Given the description of an element on the screen output the (x, y) to click on. 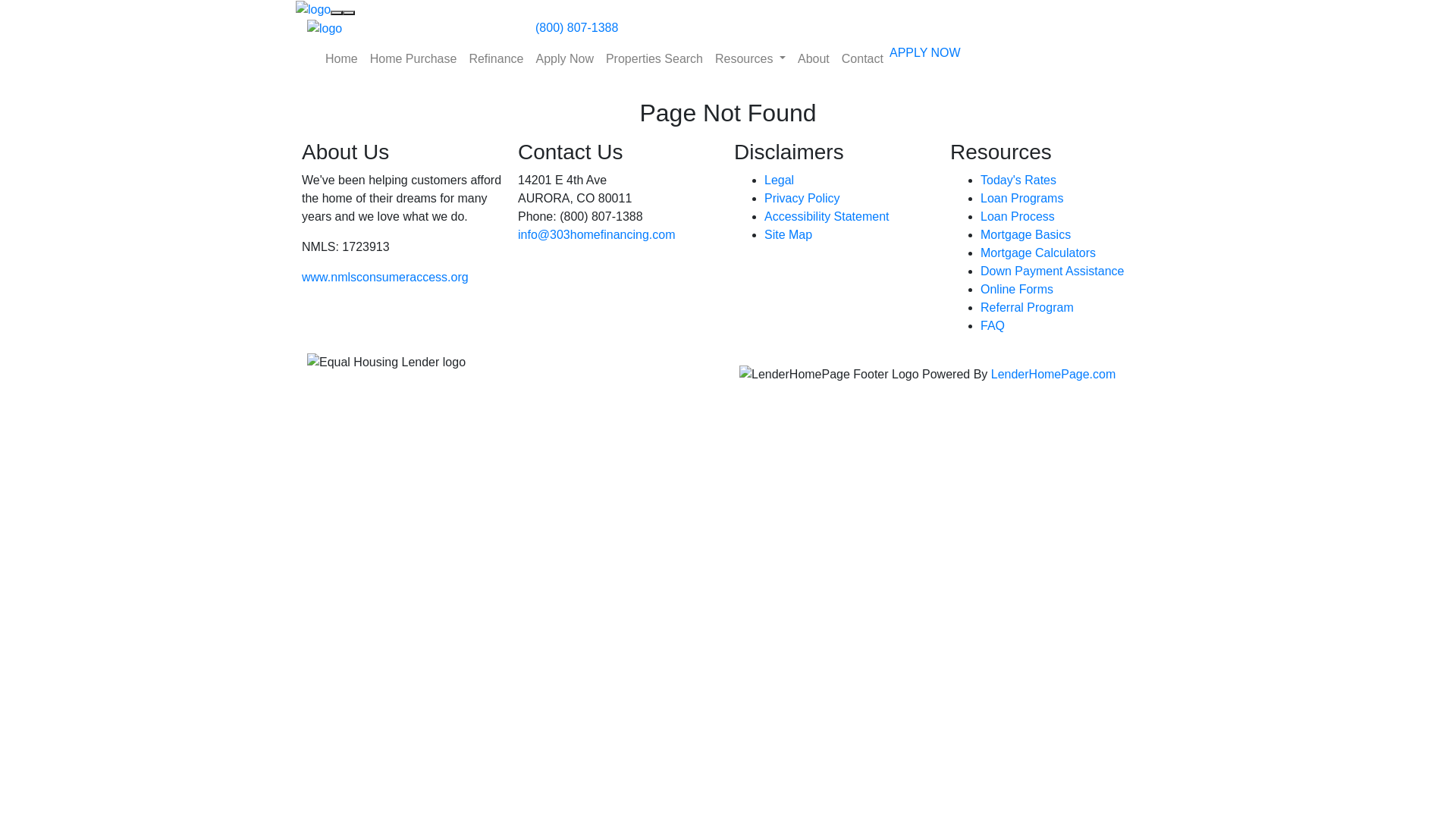
www.nmlsconsumeraccess.org Element type: text (384, 276)
Mortgage Basics Element type: text (1025, 234)
Today's Rates Element type: text (1018, 179)
Privacy Policy Element type: text (802, 197)
Down Payment Assistance Element type: text (1051, 270)
Home Element type: text (341, 58)
Contact Element type: text (862, 58)
Mortgage Calculators Element type: text (1037, 252)
Properties Search Element type: text (654, 58)
Loan Process Element type: text (1017, 216)
Legal Element type: text (778, 179)
LenderHomePage.com Element type: text (1053, 373)
Home Purchase Element type: text (413, 58)
About Element type: text (813, 58)
Apply Now Element type: text (564, 58)
Loan Programs Element type: text (1021, 197)
Accessibility Statement Element type: text (826, 216)
FAQ Element type: text (992, 325)
Site Map Element type: text (788, 234)
Online Forms Element type: text (1016, 288)
Referral Program Element type: text (1026, 307)
Resources Element type: text (750, 58)
(800) 807-1388 Element type: text (570, 27)
info@303homefinancing.com Element type: text (595, 234)
Refinance Element type: text (495, 58)
APPLY NOW Element type: text (924, 52)
